Given the description of an element on the screen output the (x, y) to click on. 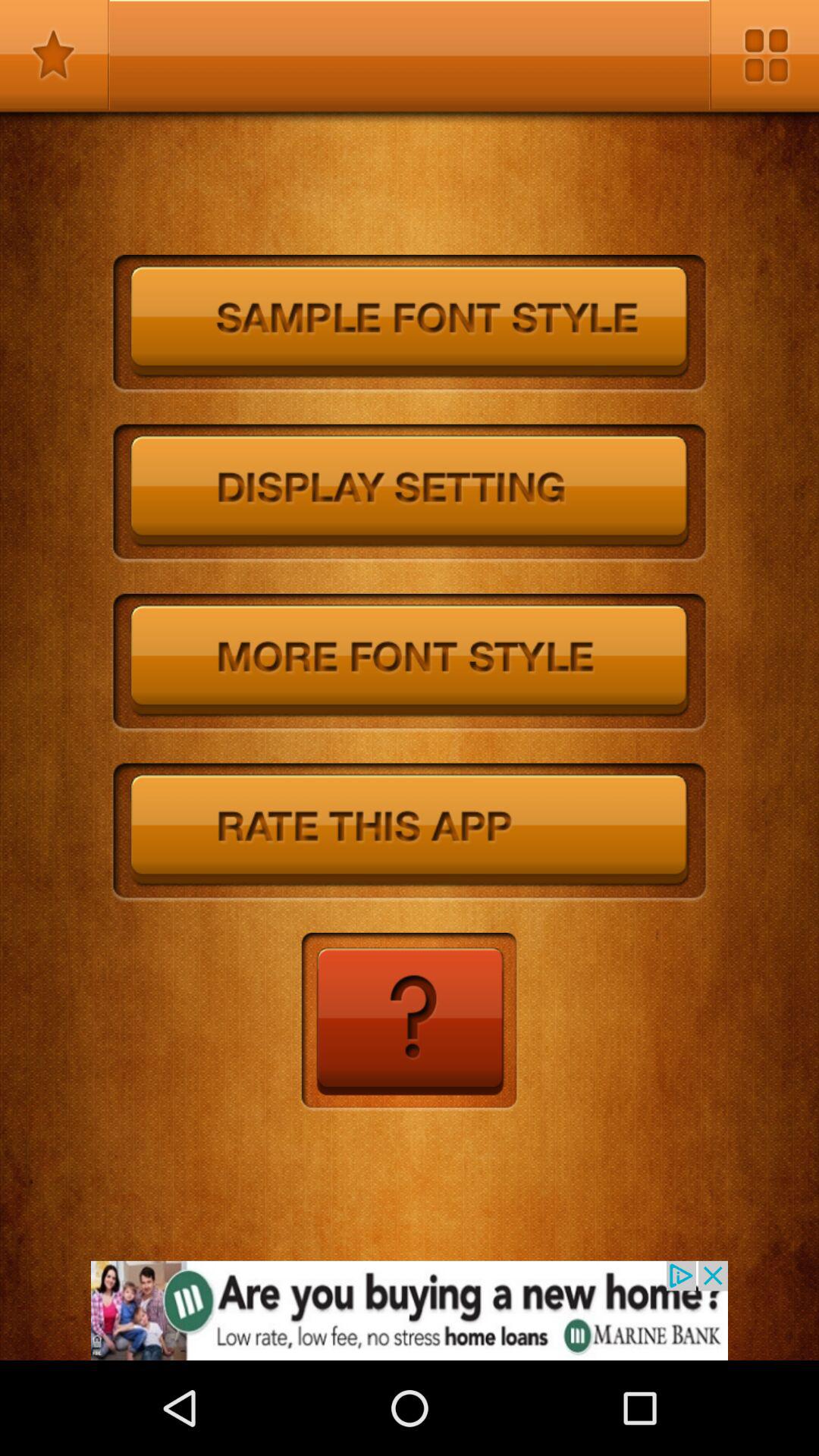
sample fon style (409, 324)
